Given the description of an element on the screen output the (x, y) to click on. 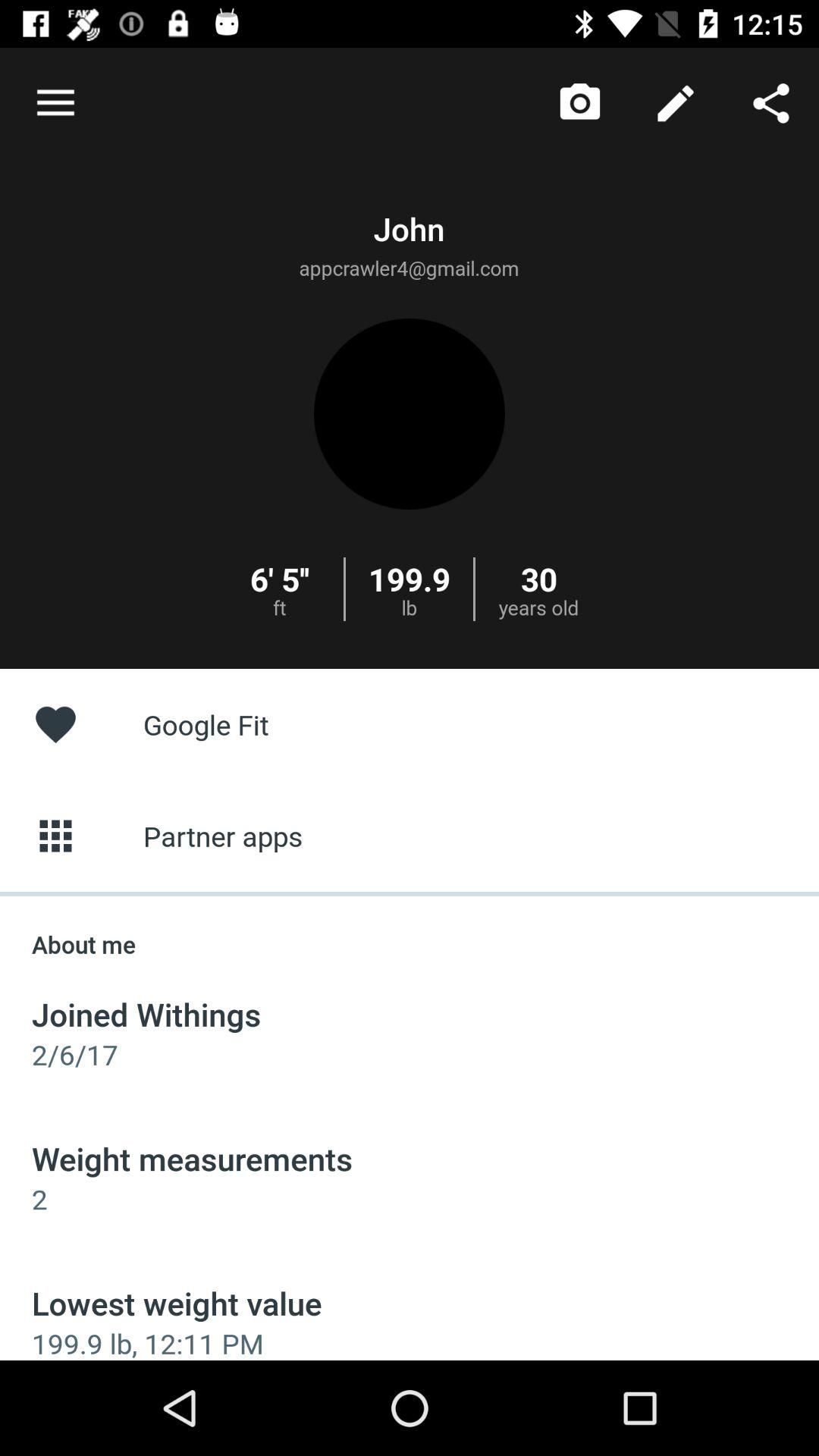
select the icon above google fit (675, 103)
